Given the description of an element on the screen output the (x, y) to click on. 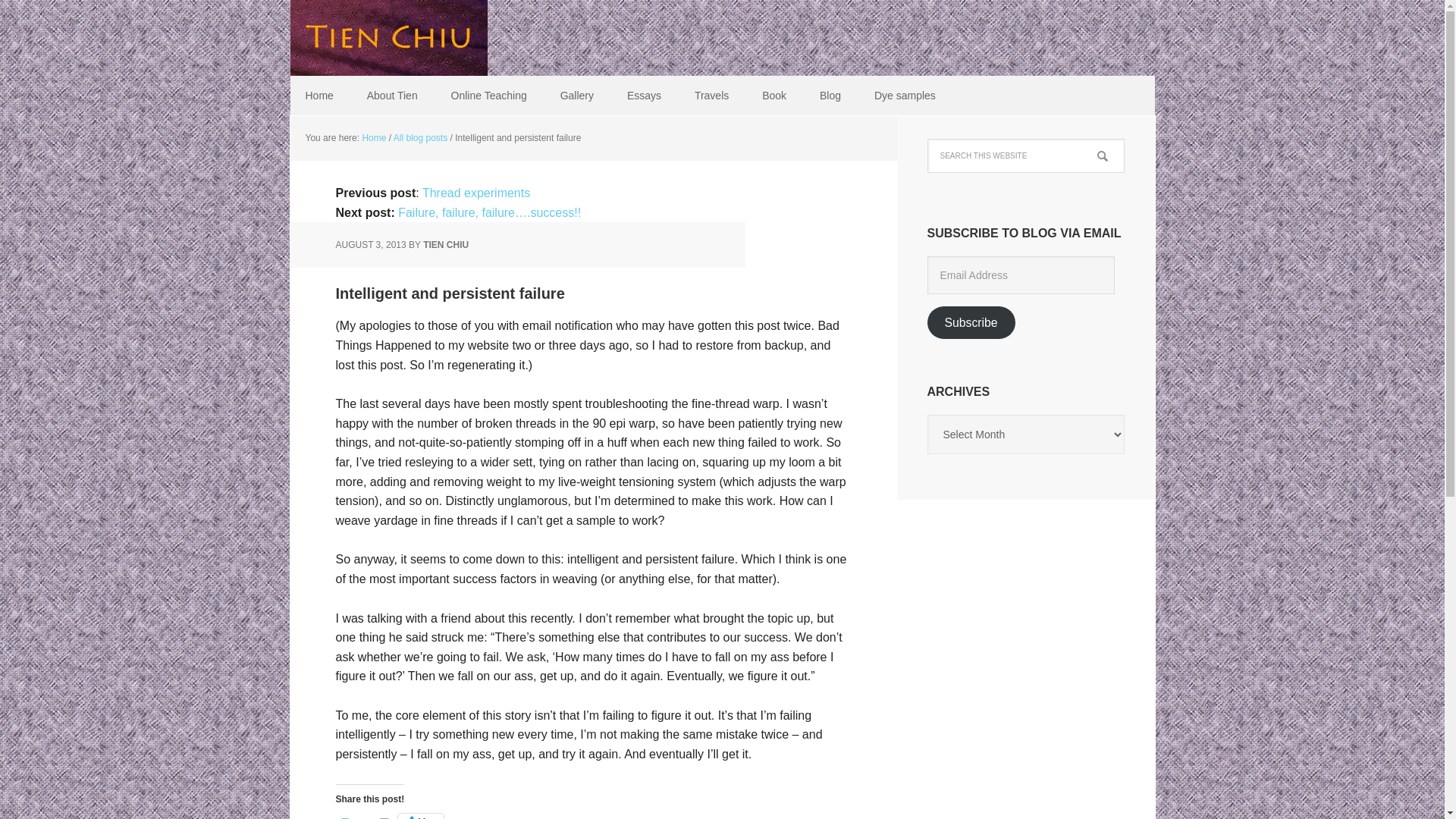
All blog posts (419, 137)
Subscribe (970, 322)
Tweet (357, 816)
Thread experiments (475, 192)
Blog (830, 96)
Home (318, 96)
Tien Chiu (387, 38)
TIEN CHIU (445, 244)
Essays (644, 96)
